Given the description of an element on the screen output the (x, y) to click on. 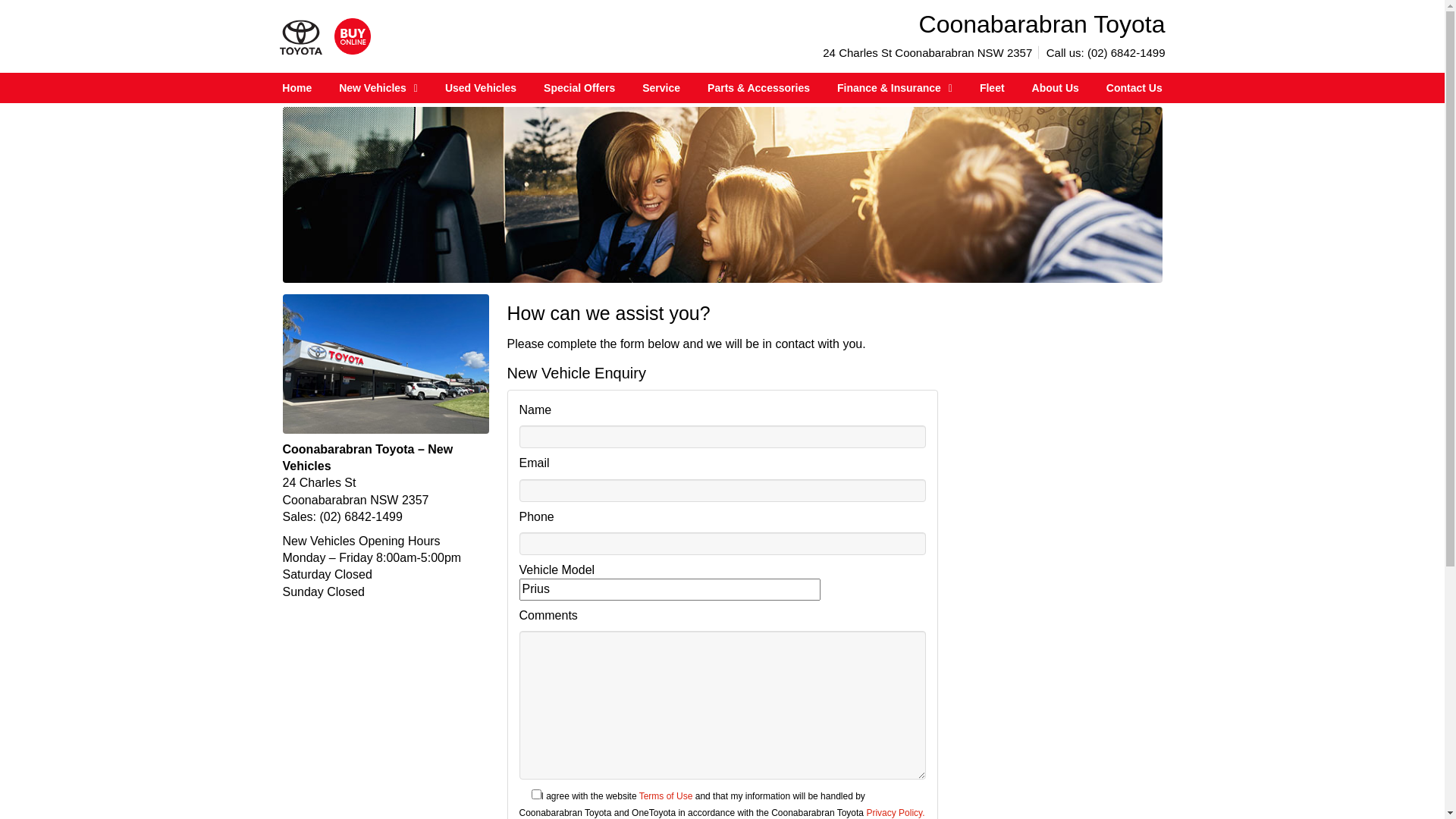
Used Vehicles Element type: text (480, 87)
Home Element type: text (296, 87)
New Vehicles Element type: text (378, 87)
Contact Us Element type: text (1134, 87)
(02) 6842-1499 Element type: text (1126, 52)
Special Offers Element type: text (579, 87)
Privacy Policy. Element type: text (895, 812)
About Us Element type: text (1055, 87)
Service Element type: text (660, 87)
Parts & Accessories Element type: text (758, 87)
Finance & Insurance Element type: text (894, 87)
(02) 6842-1499 Element type: text (360, 516)
Fleet Element type: text (992, 87)
Terms of Use Element type: text (666, 795)
